Given the description of an element on the screen output the (x, y) to click on. 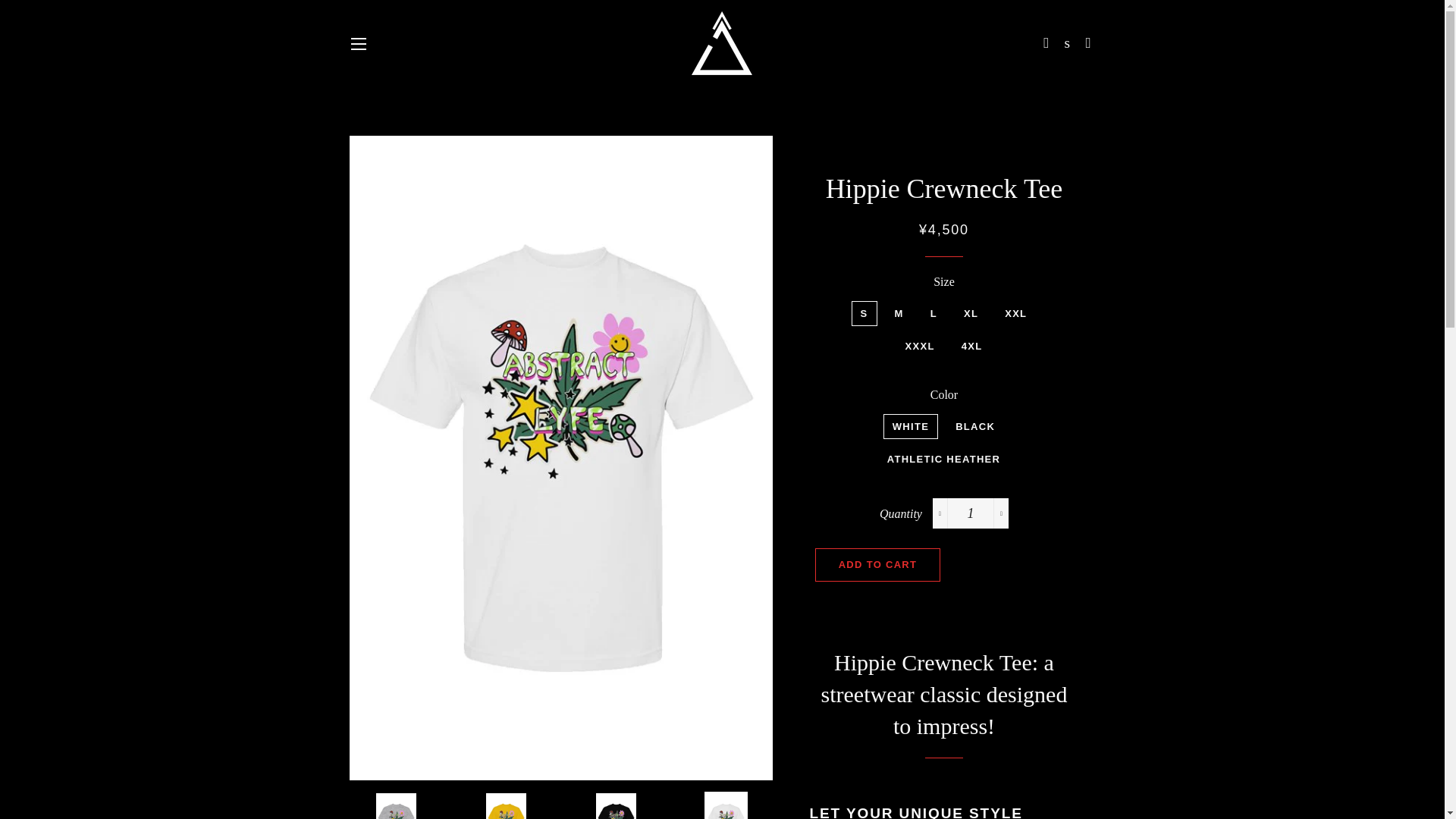
SITE NAVIGATION (358, 43)
1 (971, 512)
